Given the description of an element on the screen output the (x, y) to click on. 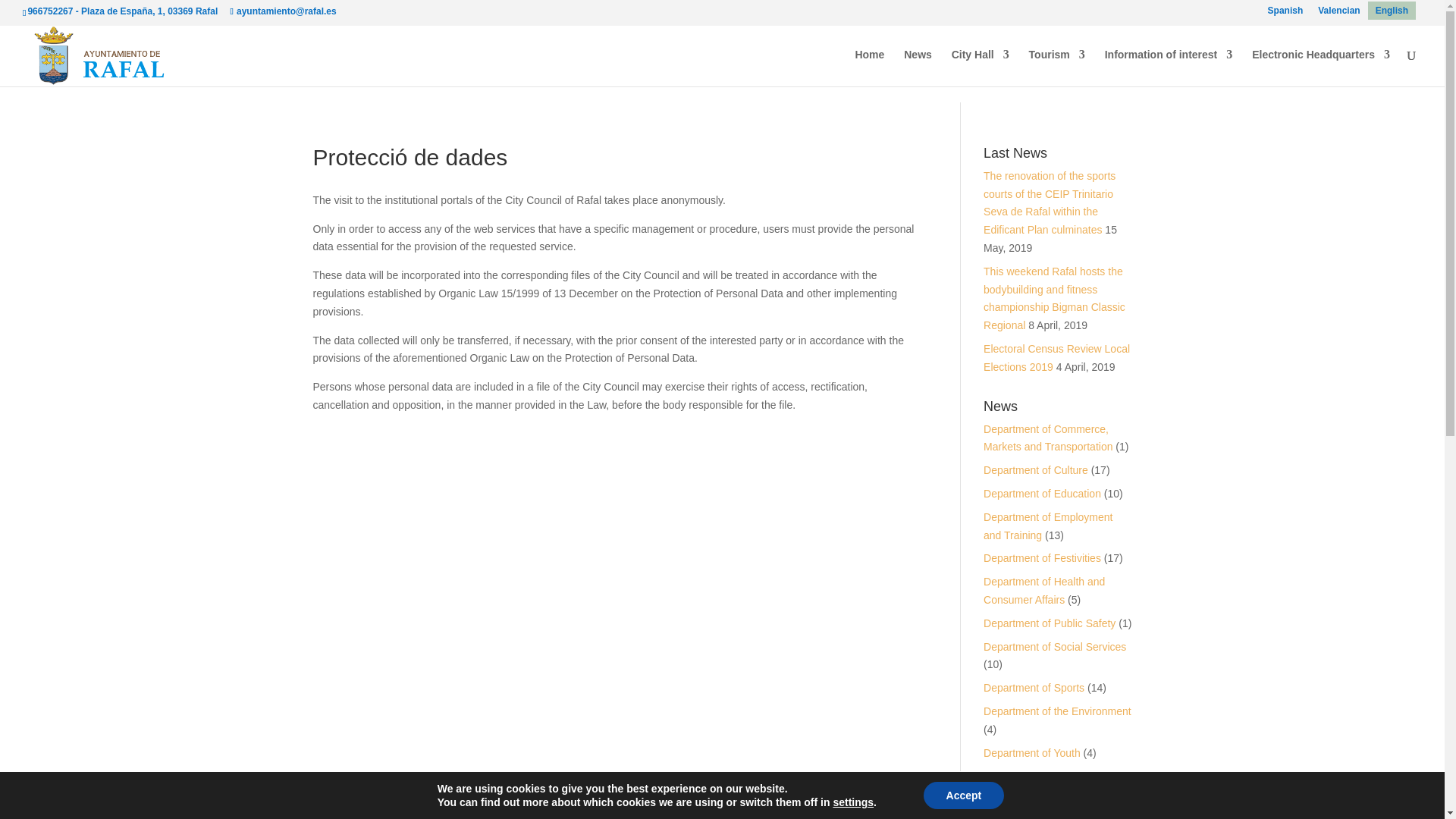
City Hall (980, 67)
Valencian (1338, 10)
Spanish (1285, 10)
Tourism (1056, 67)
English (1391, 10)
